Given the description of an element on the screen output the (x, y) to click on. 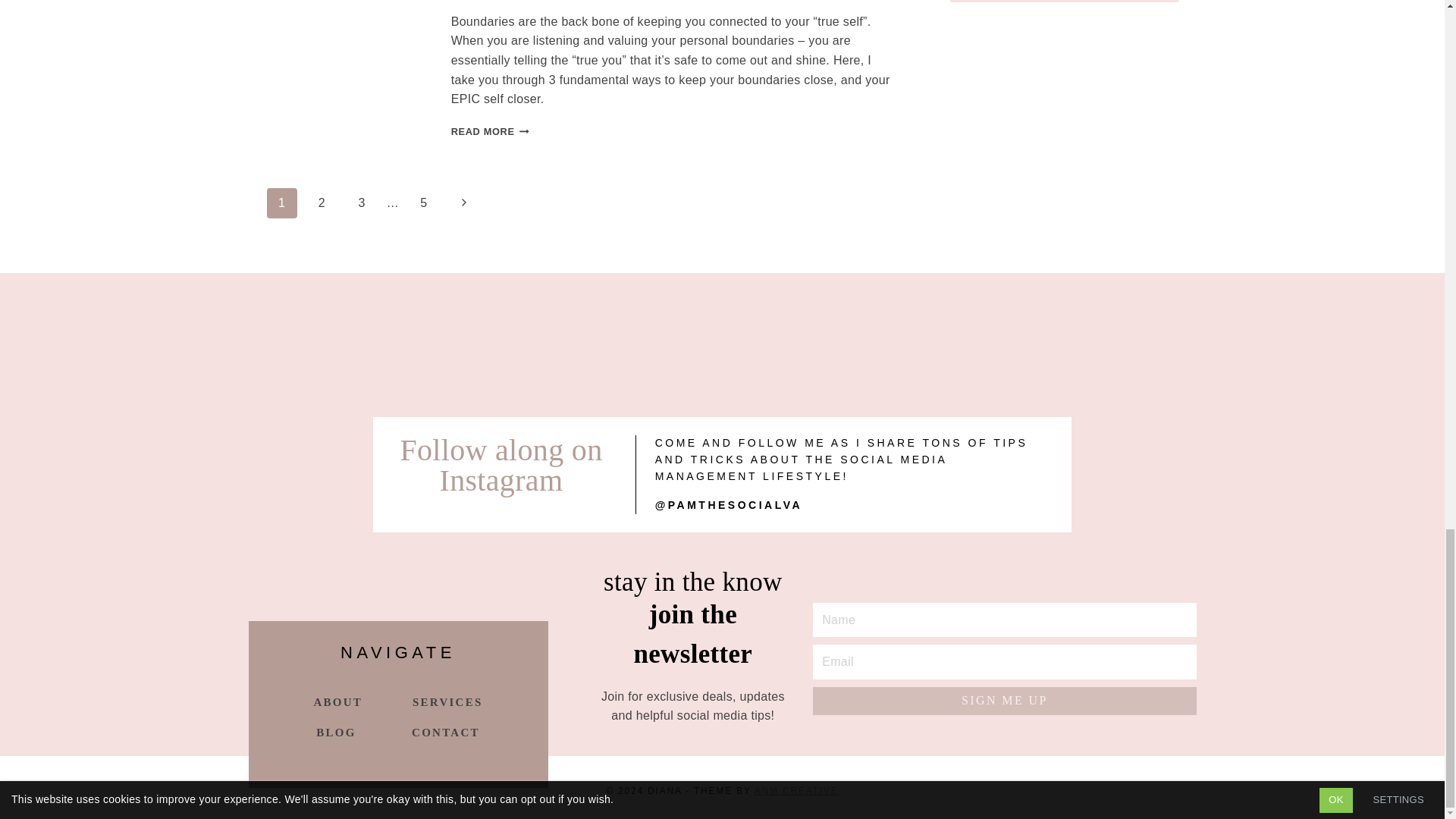
2 (490, 131)
5 (320, 203)
3 (424, 203)
